Given the description of an element on the screen output the (x, y) to click on. 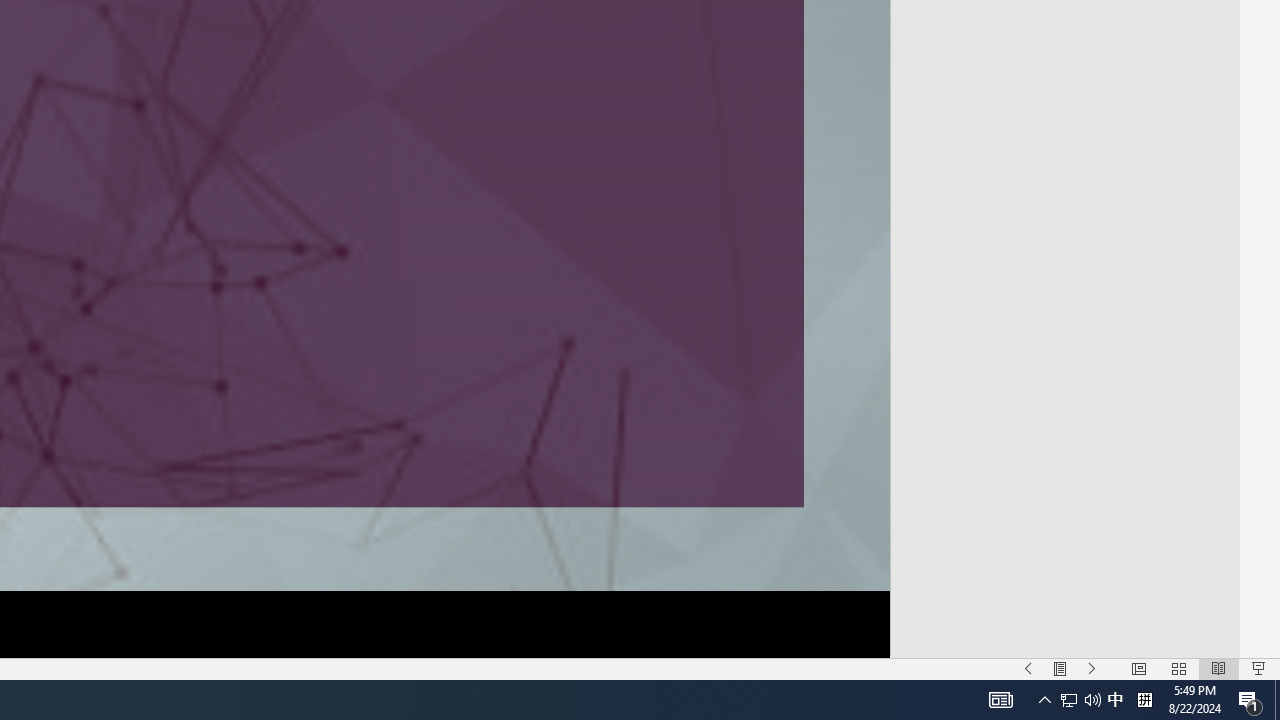
Menu On (1060, 668)
Slide Show Next On (1092, 668)
Slide Show Previous On (1028, 668)
